Given the description of an element on the screen output the (x, y) to click on. 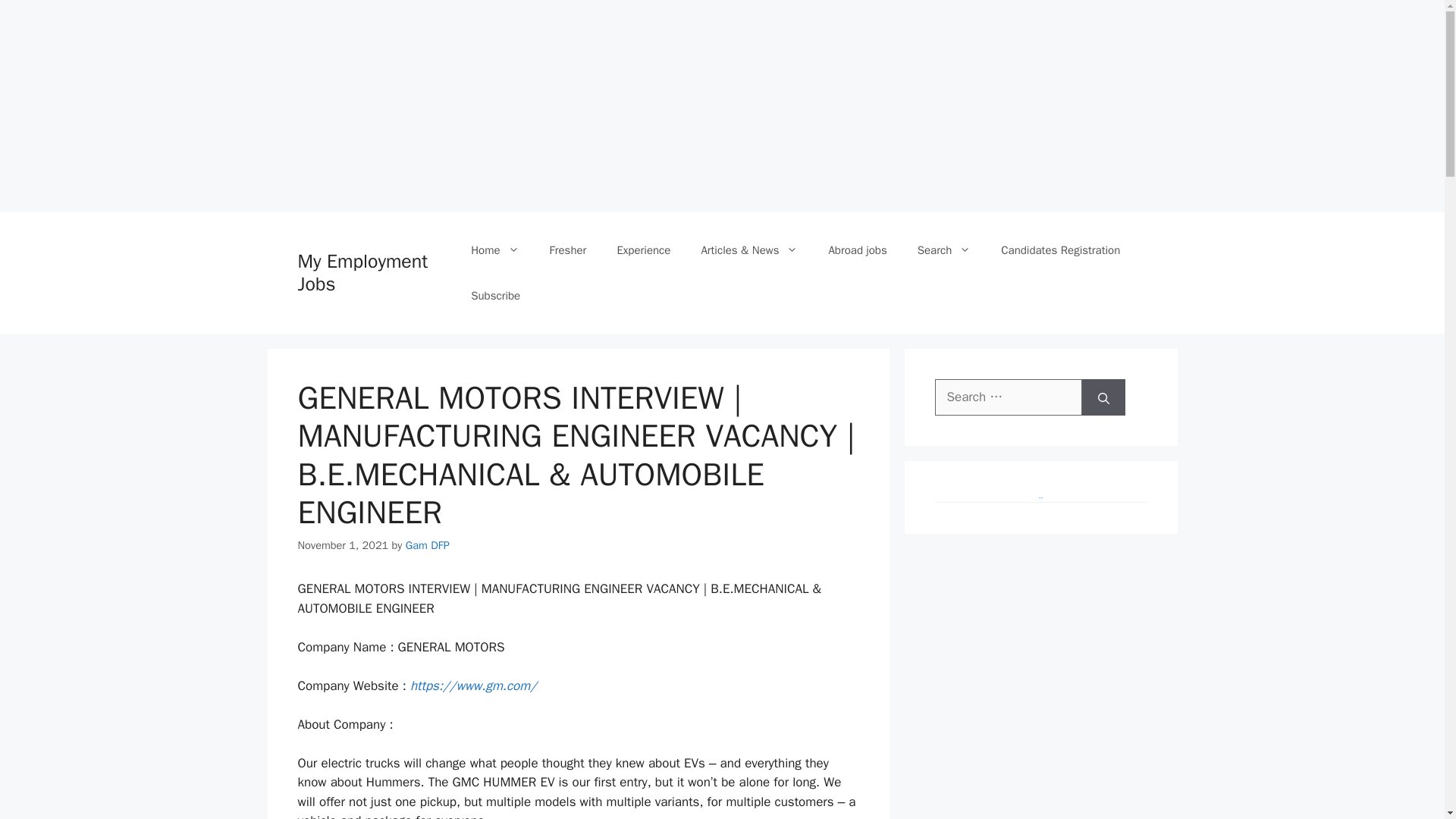
Search (944, 249)
Fresher (568, 249)
View all posts by Gam DFP (427, 545)
Search for: (1007, 397)
Gam DFP (427, 545)
Subscribe (495, 295)
Abroad jobs (856, 249)
Experience (643, 249)
Candidates Registration (1060, 249)
Home (494, 249)
My Employment Jobs (362, 272)
